Given the description of an element on the screen output the (x, y) to click on. 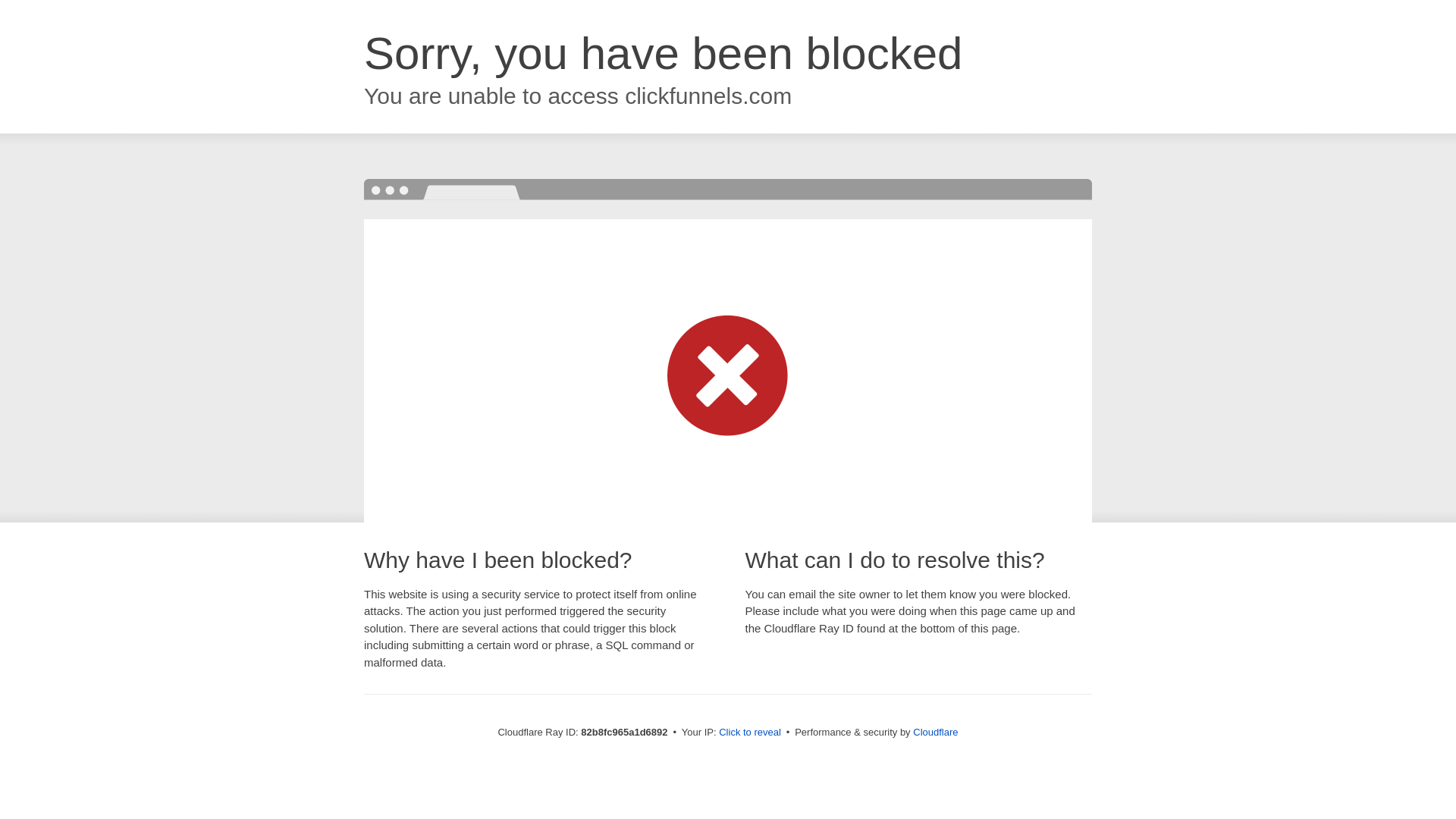
Click to reveal Element type: text (749, 732)
Cloudflare Element type: text (935, 731)
